Given the description of an element on the screen output the (x, y) to click on. 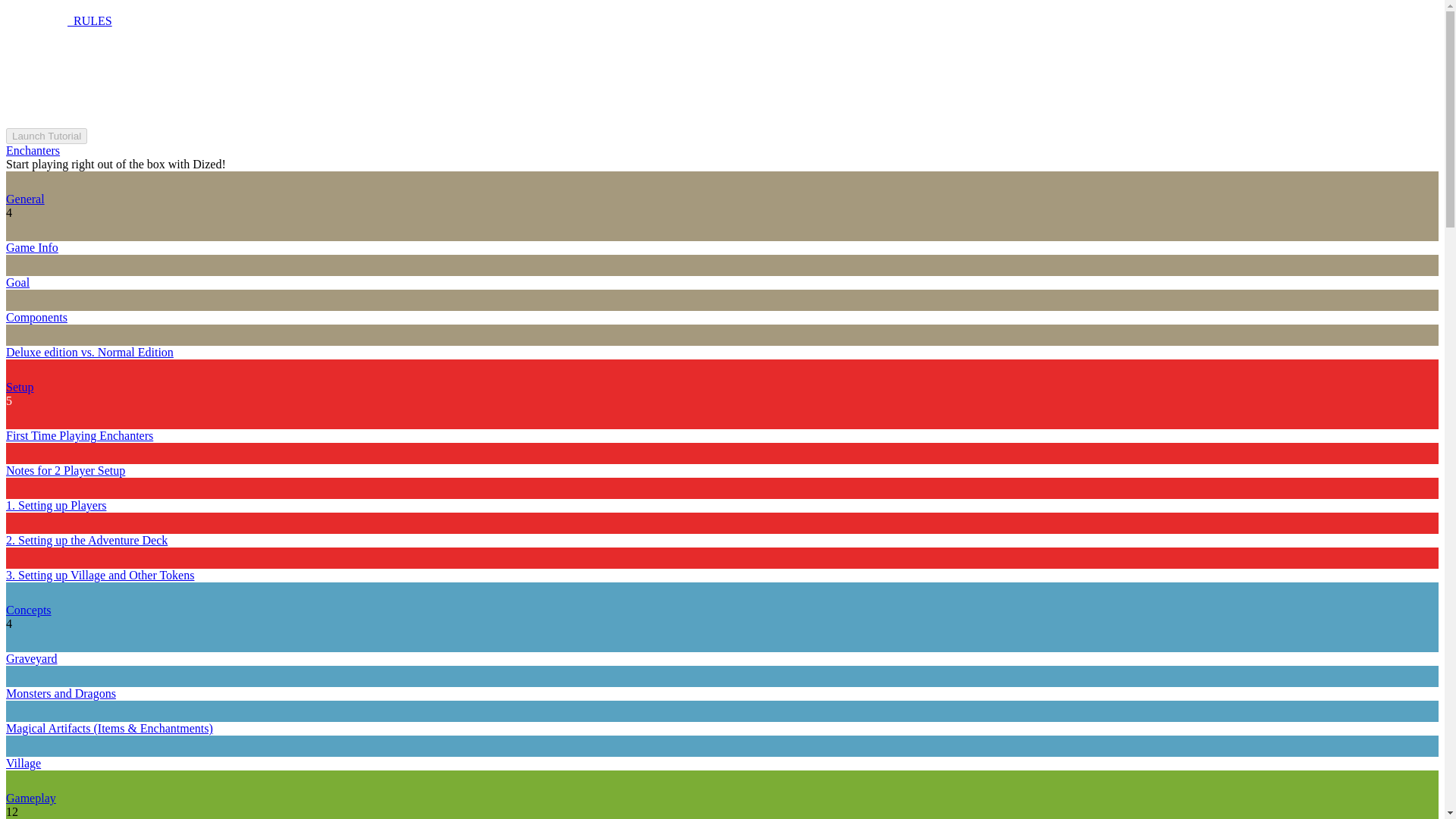
  RULES (58, 20)
Goal (17, 282)
Concepts (27, 609)
2. Setting up the Adventure Deck (86, 540)
First Time Playing Enchanters (78, 435)
Monsters and Dragons (60, 693)
Graveyard (31, 658)
Components (35, 317)
Setup (19, 386)
Gameplay (30, 797)
